Given the description of an element on the screen output the (x, y) to click on. 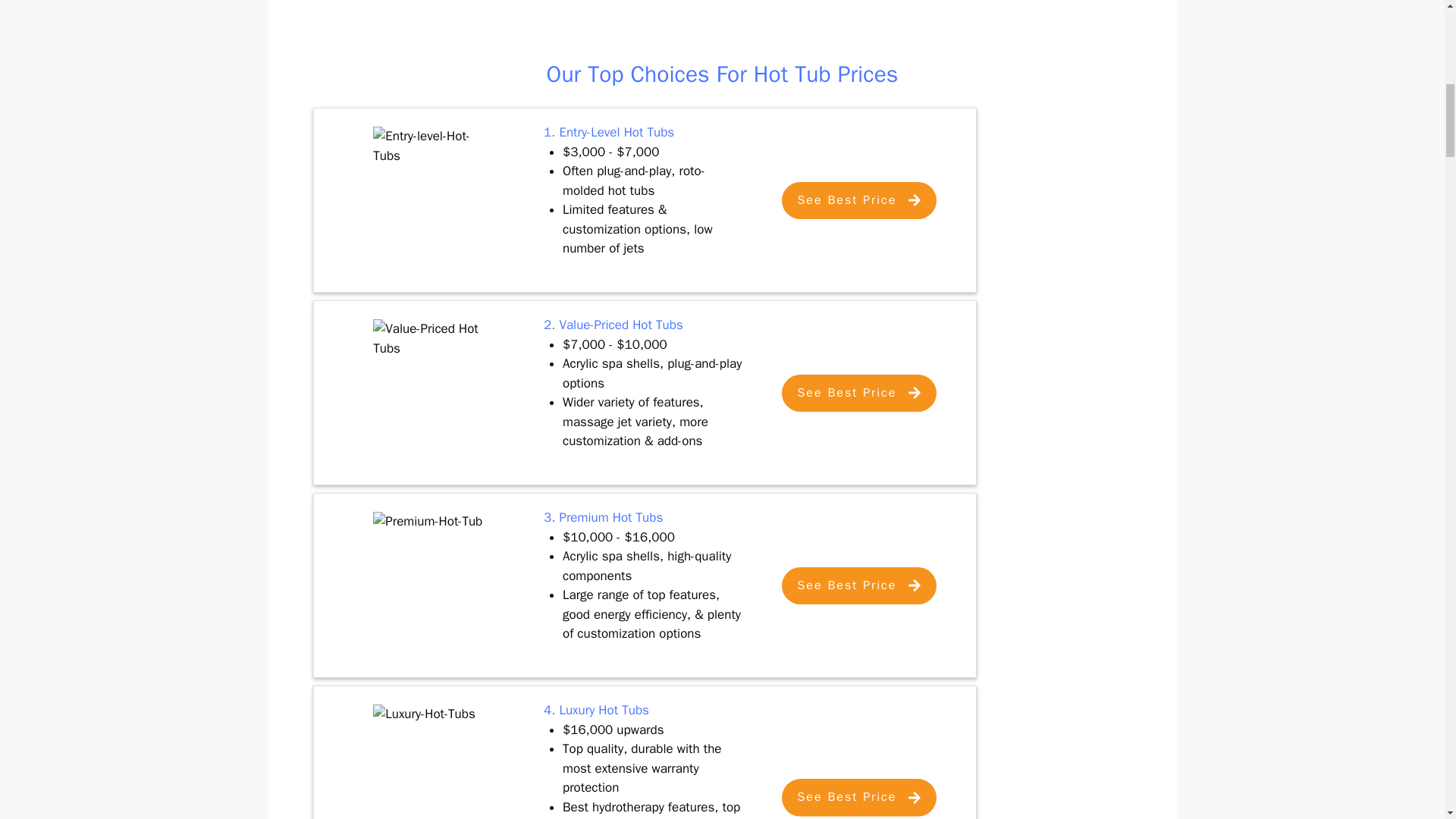
Luxury-Hot-Tubs (429, 742)
Premium-Hot-Tub (429, 543)
Value-Priced Hot Tubs (429, 358)
See Best Price (858, 585)
See Best Price (858, 200)
See Best Price (858, 392)
See Best Price (858, 796)
Entry-level-Hot-Tubs (429, 167)
